Given the description of an element on the screen output the (x, y) to click on. 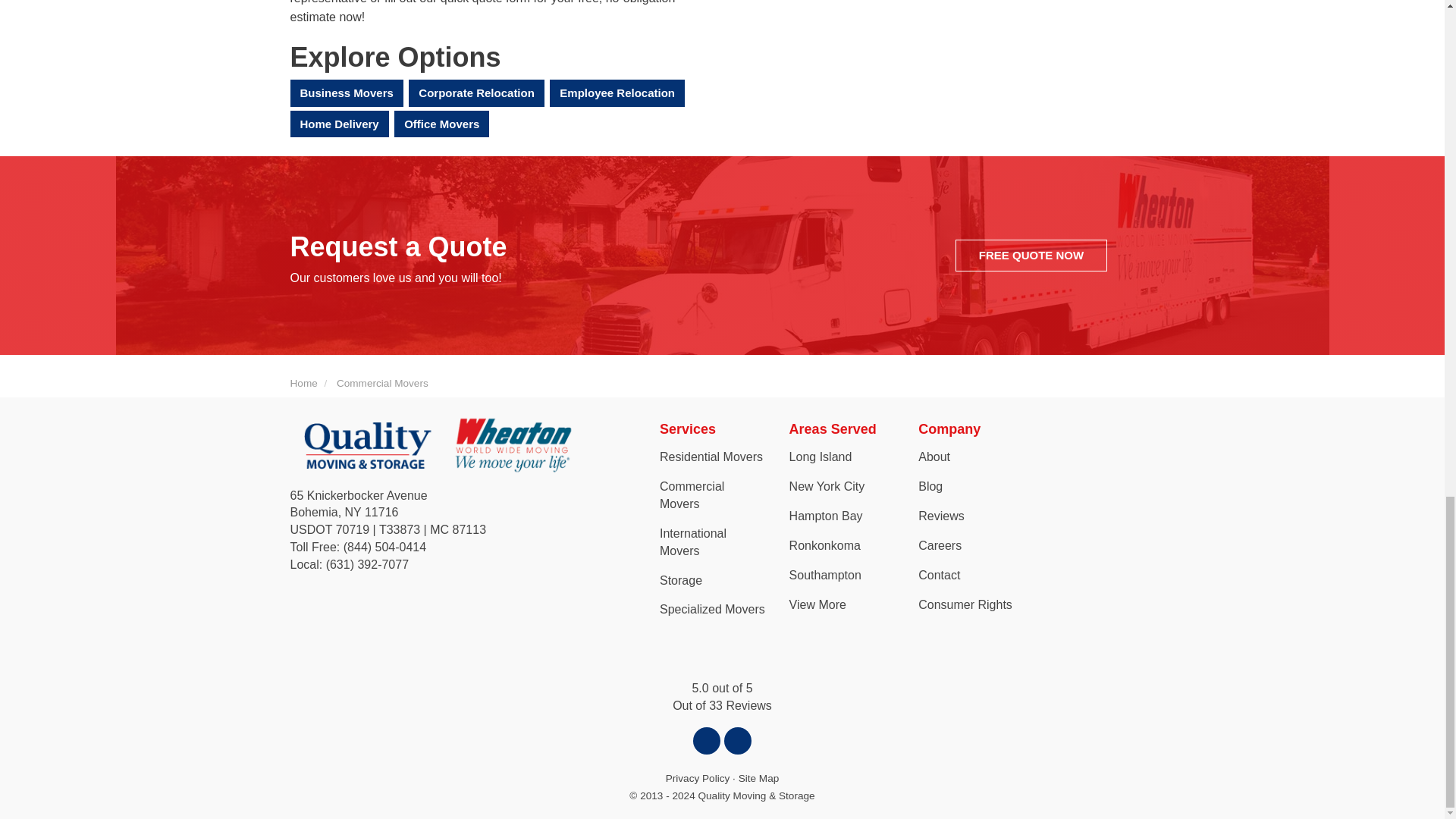
FREE QUOTE NOW (1030, 255)
